Given the description of an element on the screen output the (x, y) to click on. 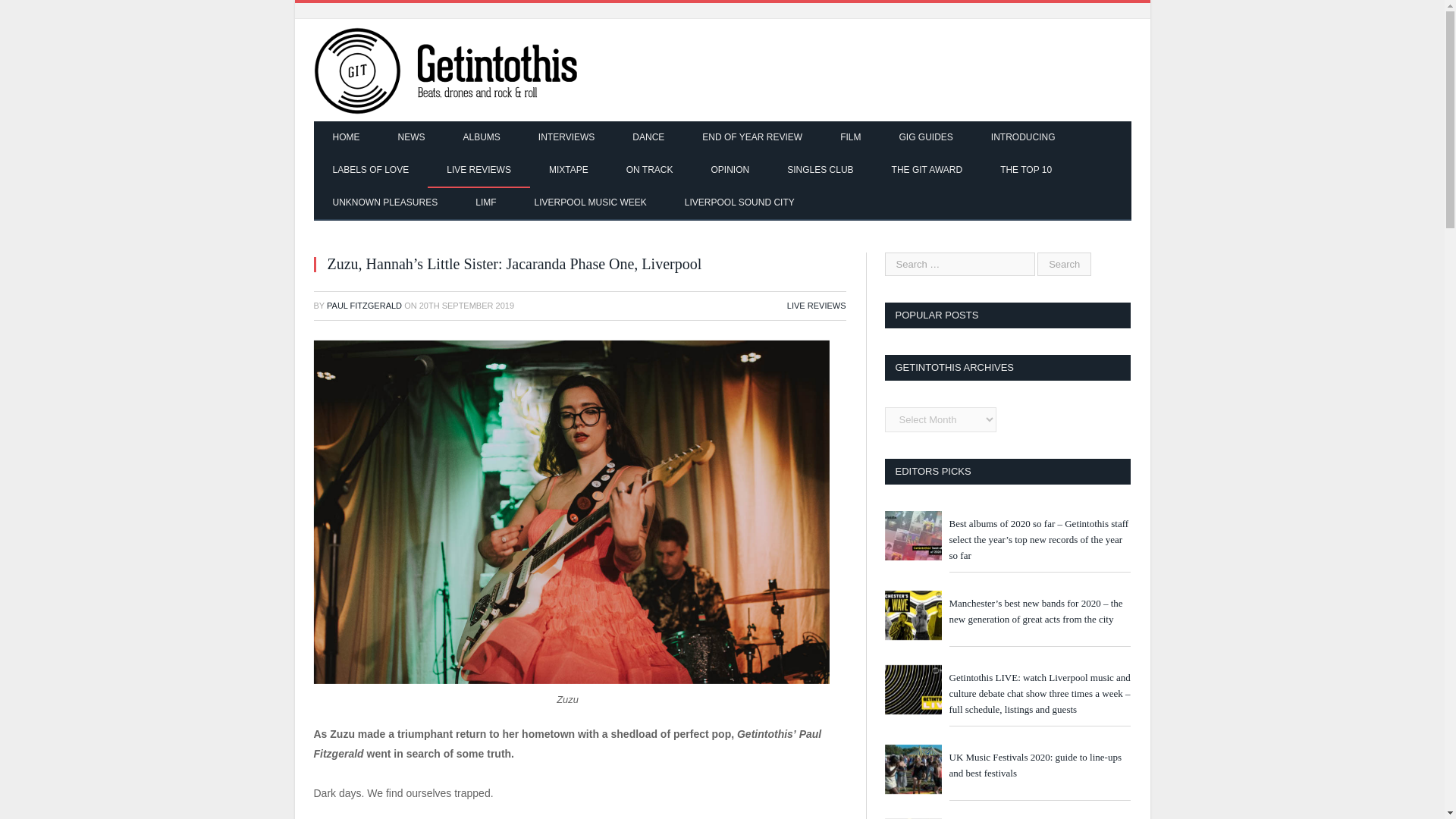
Getintothis (456, 69)
END OF YEAR REVIEW (751, 138)
LABELS OF LOVE (371, 170)
Search (1063, 264)
SINGLES CLUB (820, 170)
THE TOP 10 (1025, 170)
INTRODUCING (1023, 138)
2019-09-20 (466, 305)
PAUL FITZGERALD (363, 305)
LIVERPOOL SOUND CITY (739, 203)
LIVE REVIEWS (478, 170)
GIG GUIDES (925, 138)
ON TRACK (650, 170)
LIMF (486, 203)
UNKNOWN PLEASURES (385, 203)
